Given the description of an element on the screen output the (x, y) to click on. 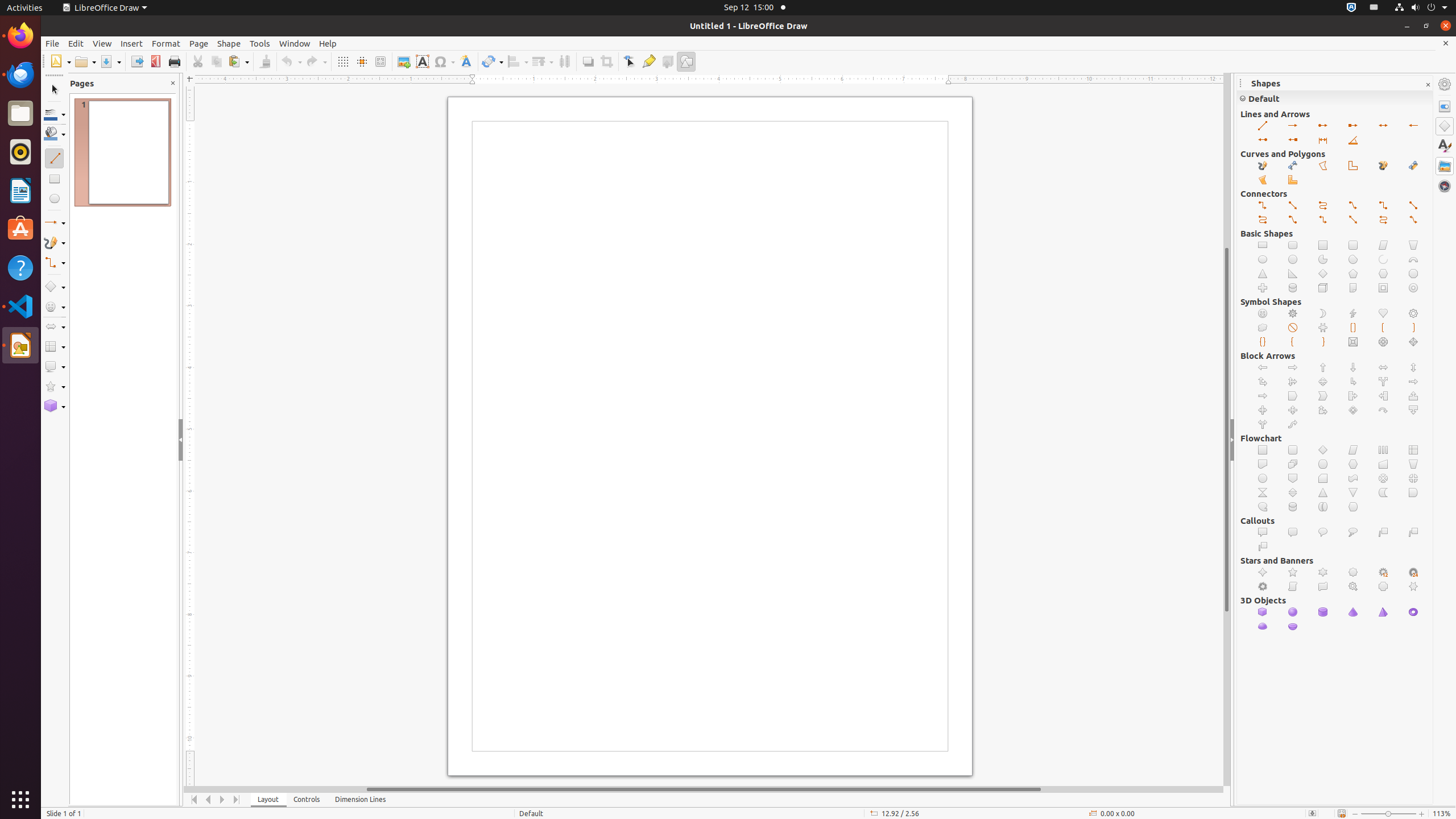
Flowchart: Summing Junction Element type: list-item (1383, 478)
Split Arrow Element type: list-item (1383, 381)
Up Arrow Callout Element type: list-item (1413, 396)
Left Bracket Element type: list-item (1383, 327)
Zoom & Pan Element type: push-button (379, 61)
